Given the description of an element on the screen output the (x, y) to click on. 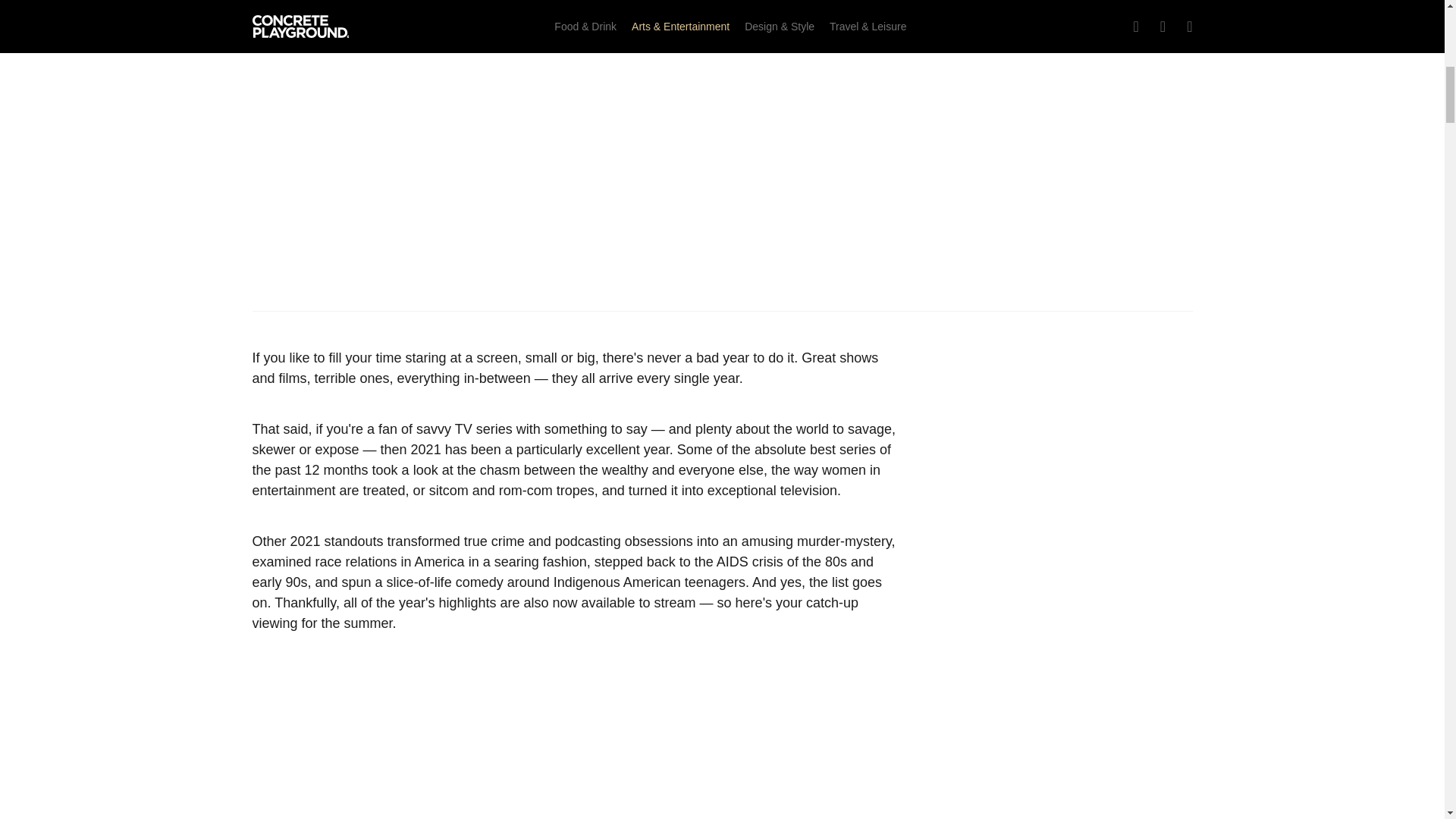
YouTube video player (577, 757)
